Given the description of an element on the screen output the (x, y) to click on. 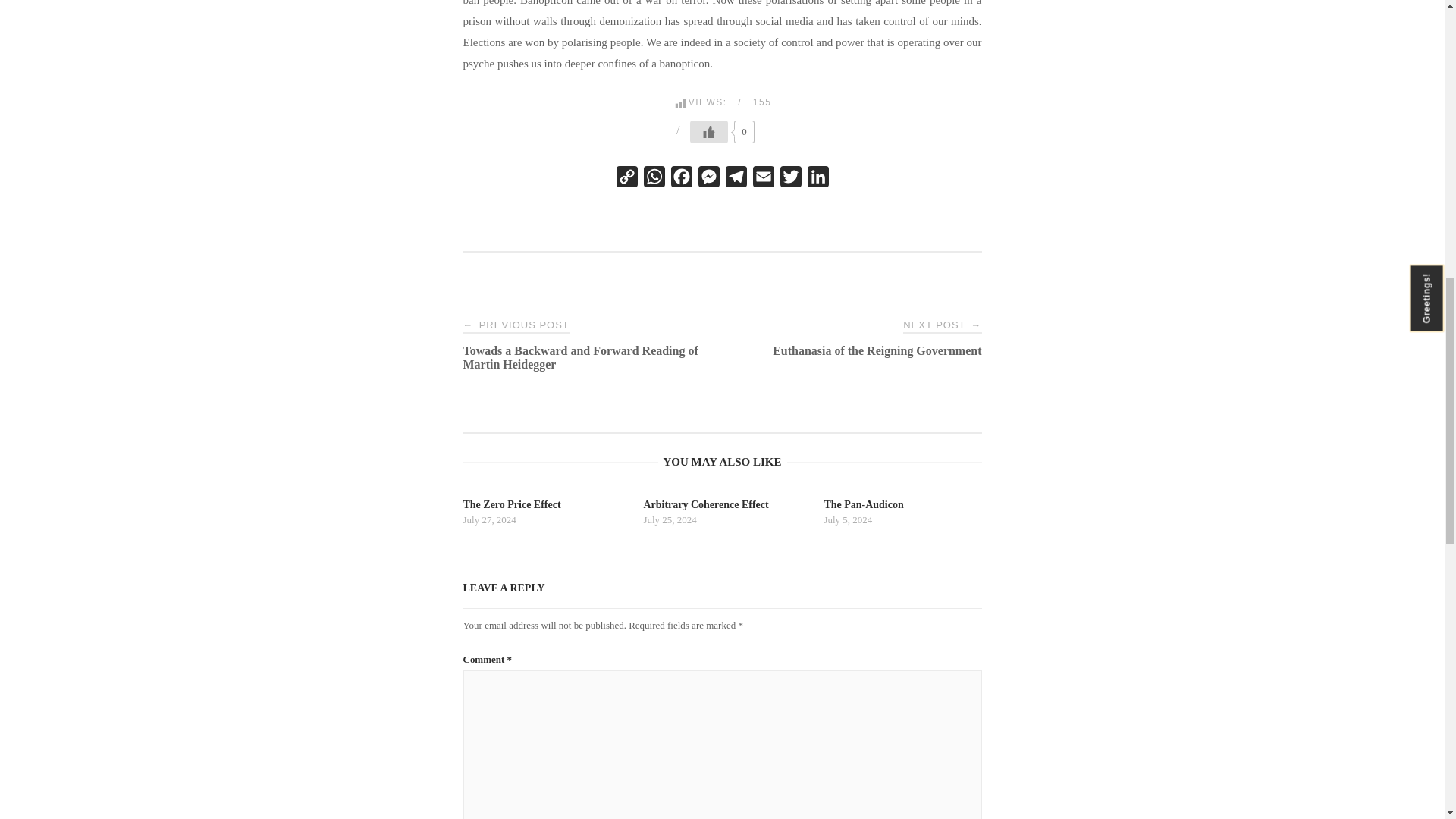
WhatsApp (653, 180)
Email (721, 513)
Telegram (762, 180)
LinkedIn (735, 180)
Email (817, 180)
Twitter (762, 180)
Copy Link (789, 180)
Messenger (626, 180)
